Given the description of an element on the screen output the (x, y) to click on. 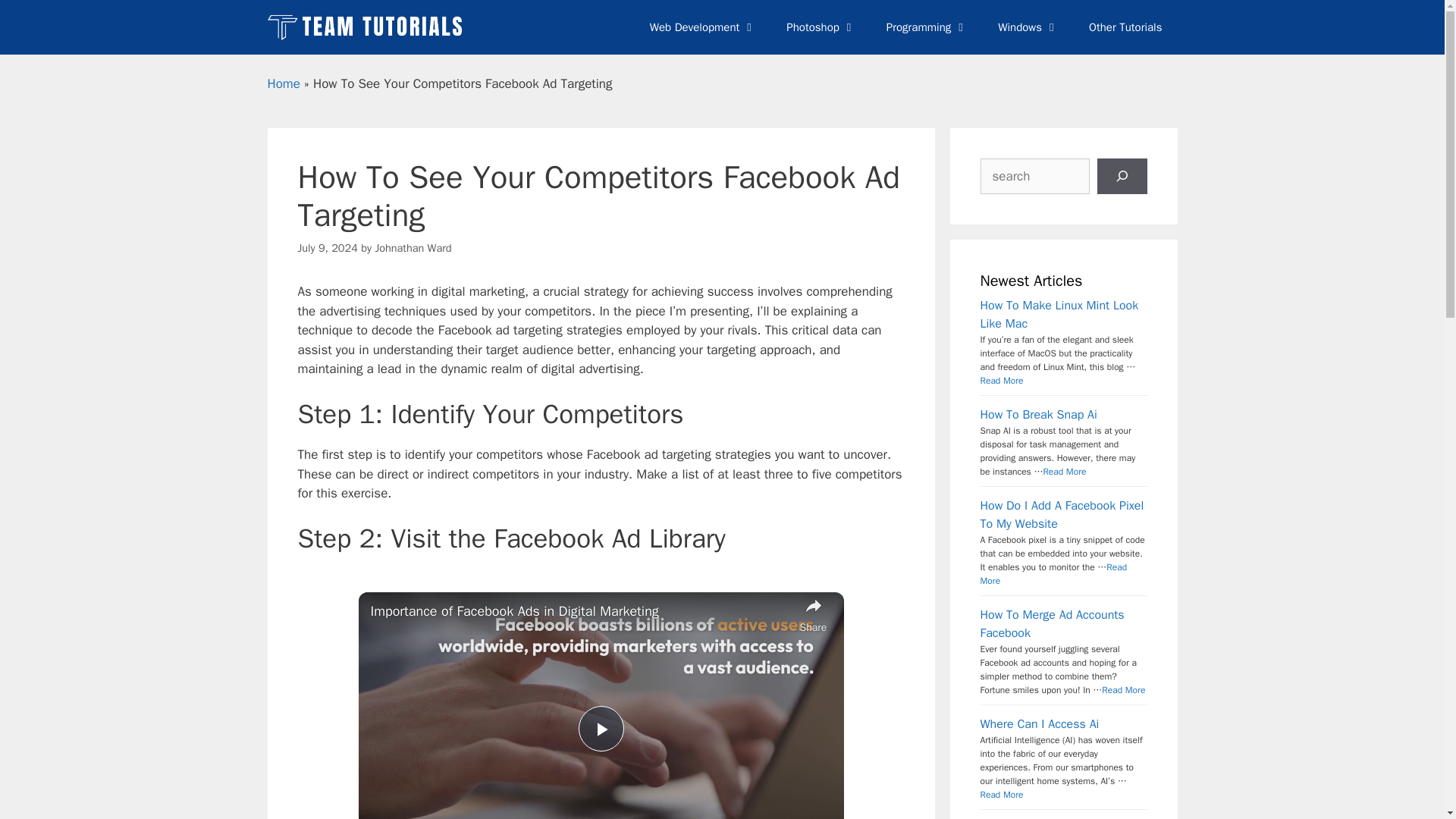
Johnathan Ward (412, 247)
Team Tutorials (365, 27)
Play Video (600, 728)
Team Tutorials (368, 27)
Photoshop (820, 26)
Windows (1028, 26)
Programming (926, 26)
Home (282, 83)
View all posts by Johnathan Ward (412, 247)
Play Video (600, 728)
Web Development (702, 26)
Other Tutorials (1125, 26)
